Given the description of an element on the screen output the (x, y) to click on. 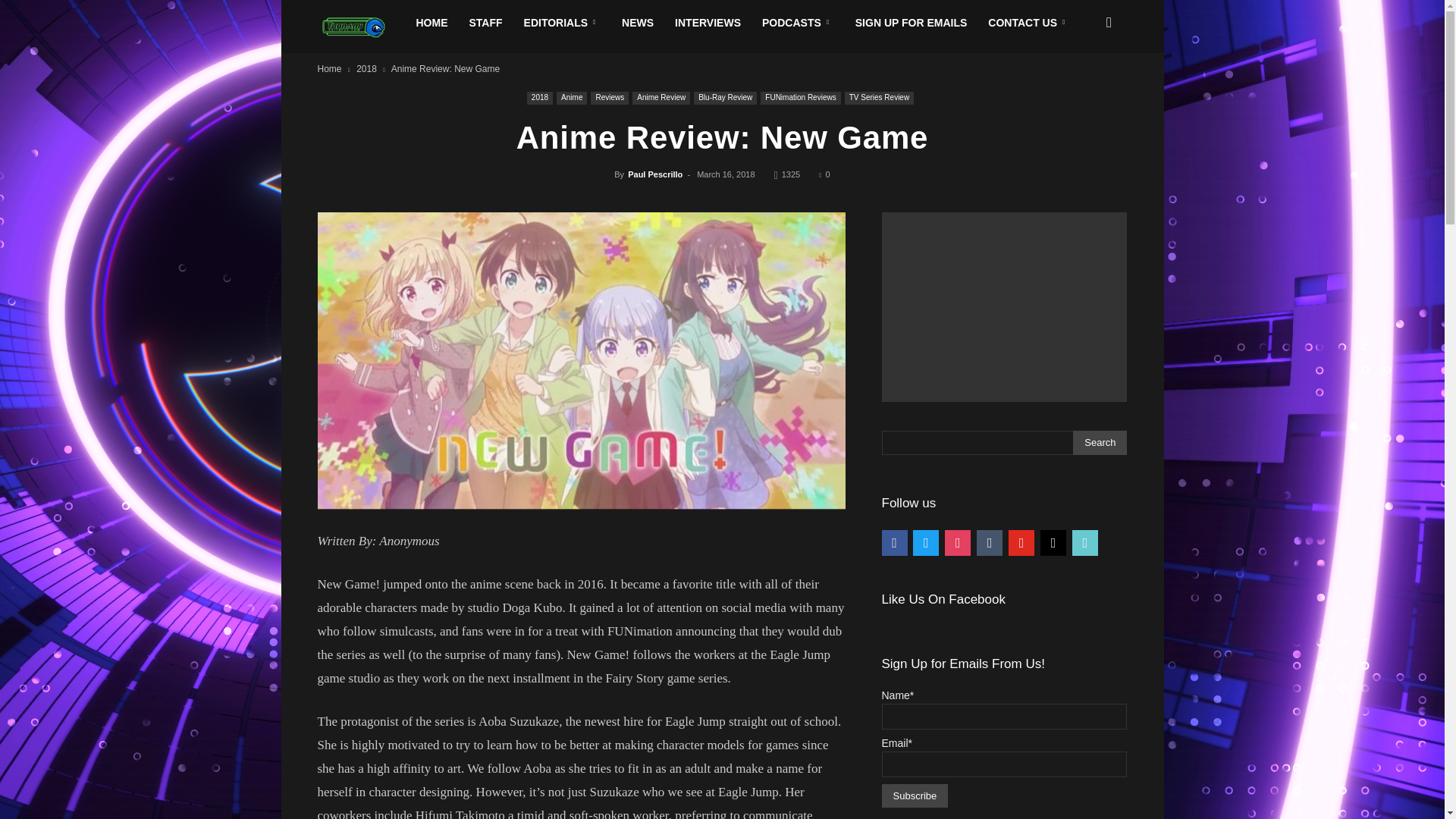
NEWS (637, 22)
Subscribe (913, 795)
Advertisement (1003, 307)
CONTACT US (1028, 22)
Toonami Faithful (360, 26)
HOME (431, 22)
View all posts in 2018 (366, 68)
Instagram (957, 541)
STAFF (485, 22)
Twitter (925, 541)
SIGN UP FOR EMAILS (911, 22)
Facebook (893, 541)
Search (1099, 442)
PODCASTS (797, 22)
